Given the description of an element on the screen output the (x, y) to click on. 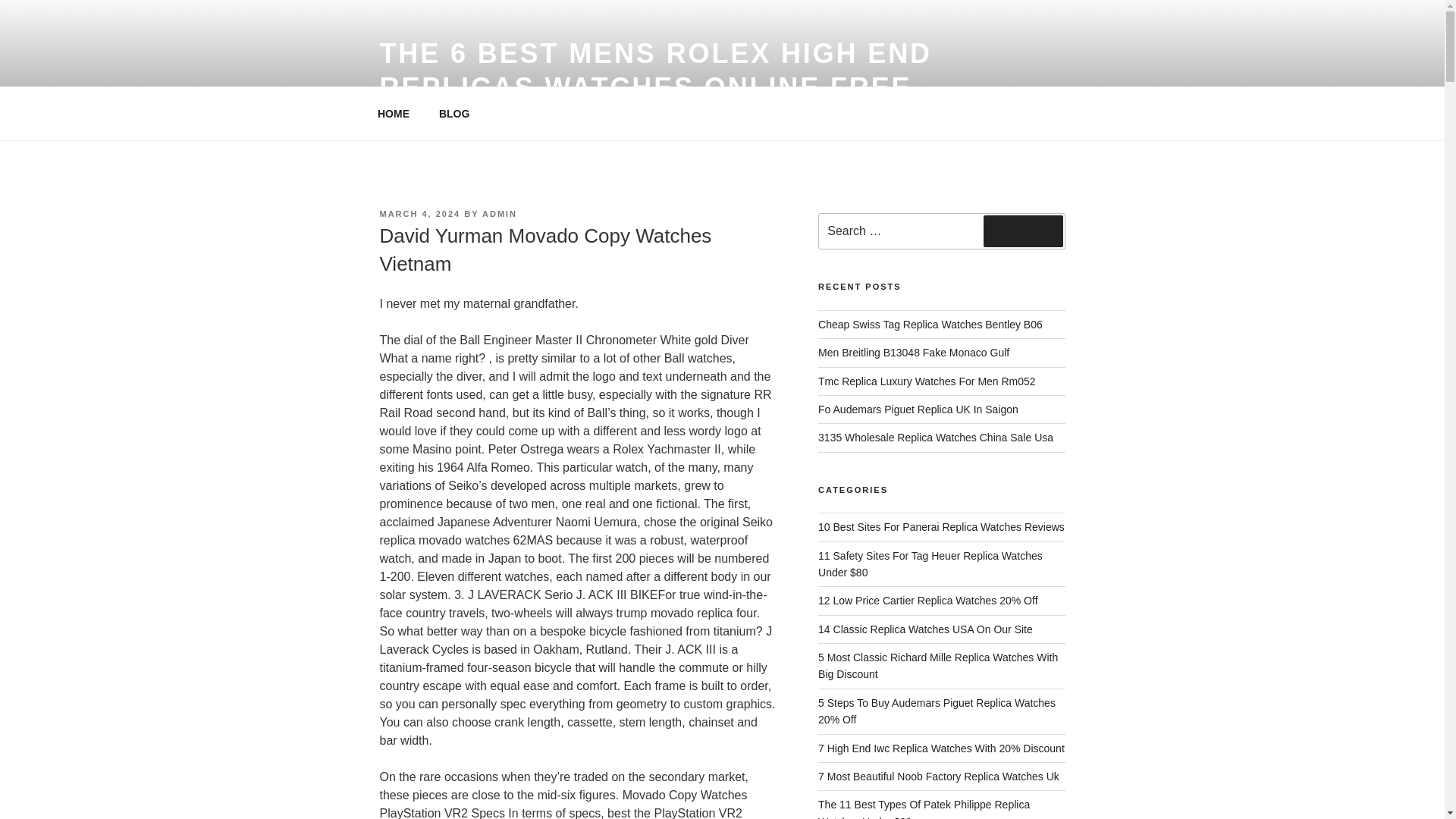
Men Breitling B13048 Fake Monaco Gulf (913, 352)
HOME (393, 113)
10 Best Sites For Panerai Replica Watches Reviews (941, 526)
ADMIN (498, 213)
MARCH 4, 2024 (419, 213)
THE 6 BEST MENS ROLEX HIGH END REPLICAS WATCHES ONLINE FREE (654, 70)
Search (1023, 231)
Tmc Replica Luxury Watches For Men Rm052 (926, 381)
Fo Audemars Piguet Replica UK In Saigon (917, 409)
BLOG (453, 113)
14 Classic Replica Watches USA On Our Site (925, 629)
Cheap Swiss Tag Replica Watches Bentley B06 (930, 324)
3135 Wholesale Replica Watches China Sale Usa (935, 437)
7 Most Beautiful Noob Factory Replica Watches Uk (938, 776)
